Given the description of an element on the screen output the (x, y) to click on. 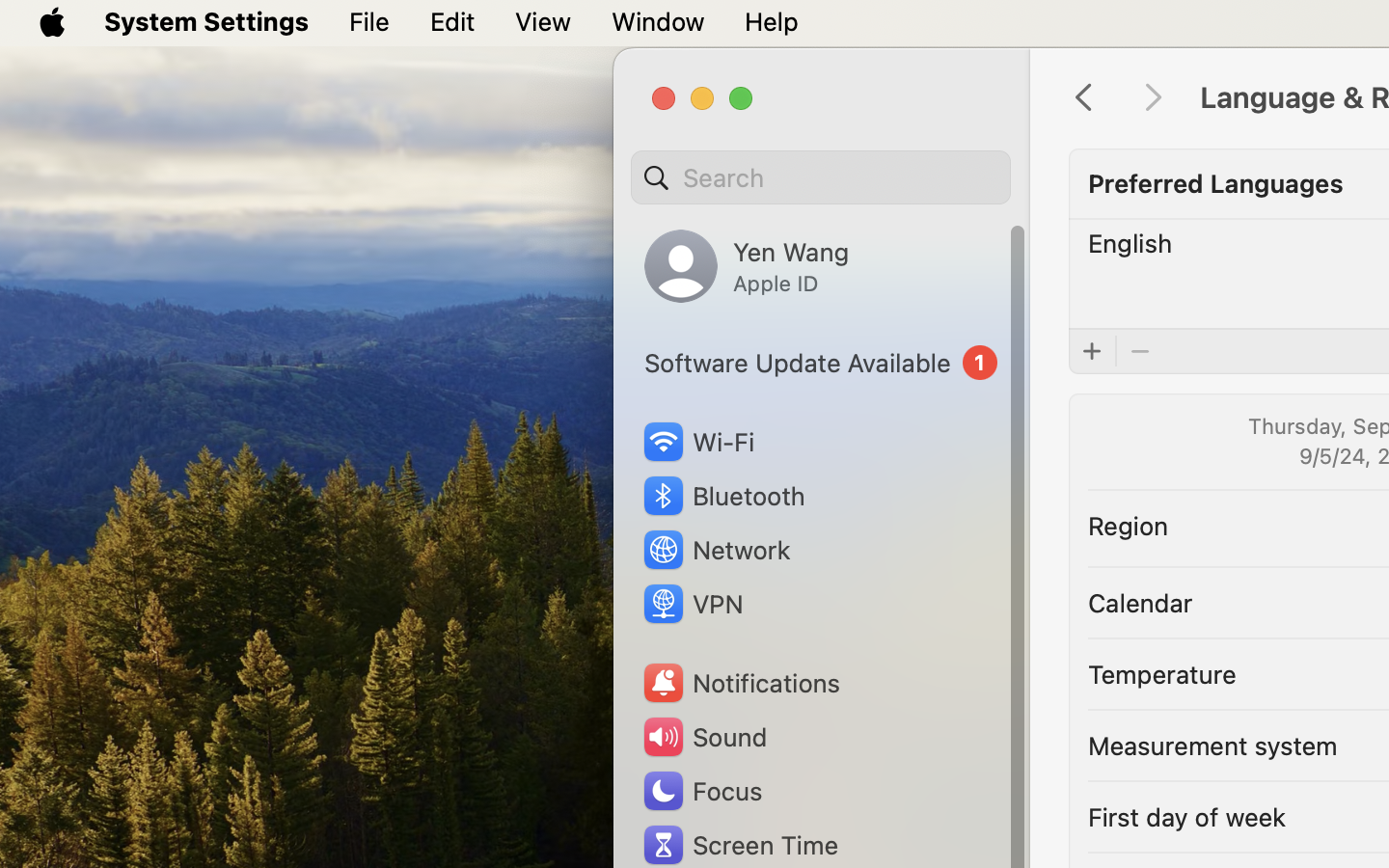
VPN Element type: AXStaticText (691, 603)
Wi‑Fi Element type: AXStaticText (697, 441)
Yen Wang, Apple ID Element type: AXStaticText (746, 265)
1 Element type: AXStaticText (820, 362)
English Element type: AXStaticText (1130, 242)
